Given the description of an element on the screen output the (x, y) to click on. 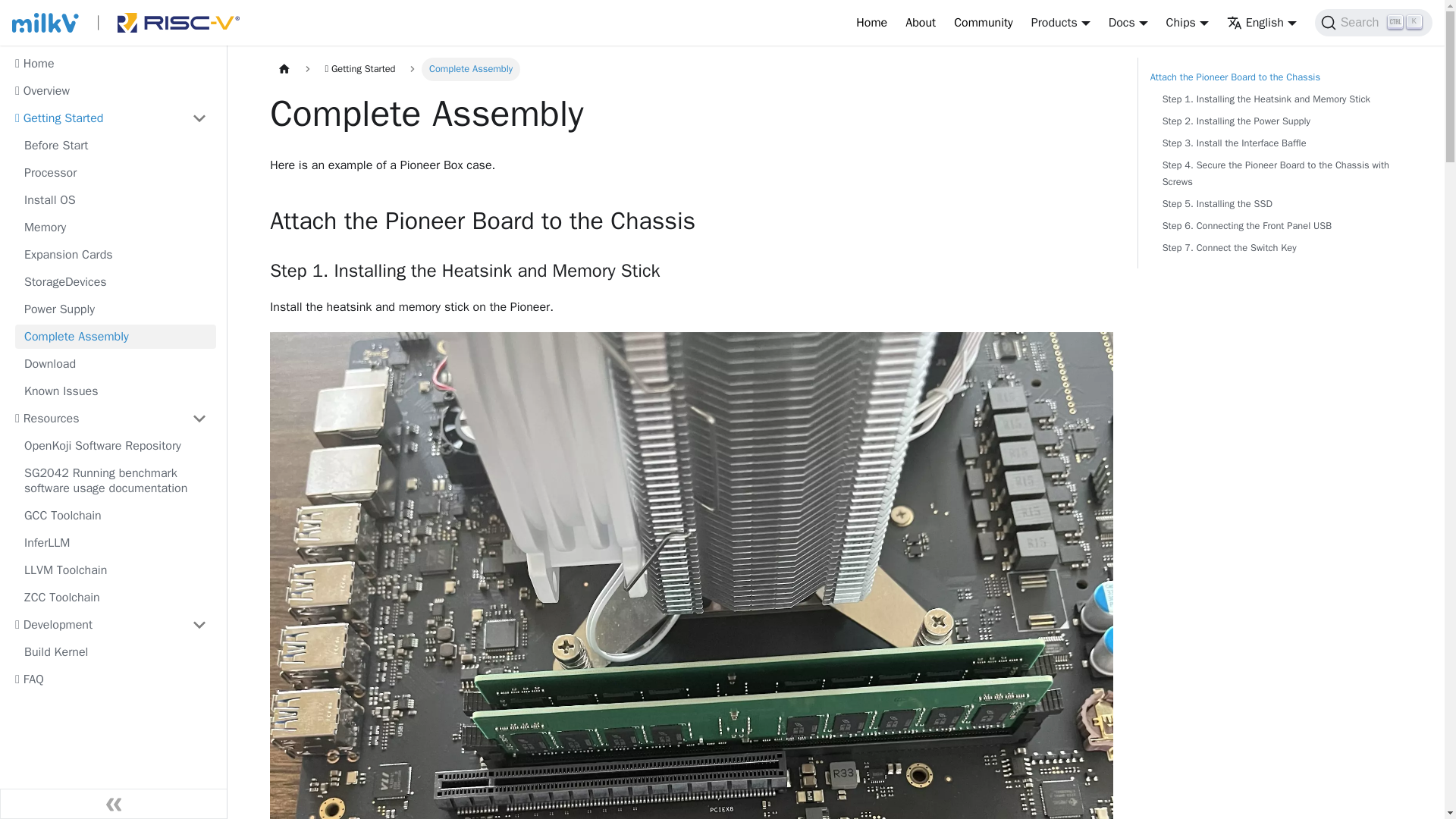
Collapse sidebar (113, 803)
Docs (1128, 22)
Products (1060, 22)
English (1262, 22)
Community (983, 22)
About (920, 22)
Home (871, 22)
Before Start (114, 145)
Chips (1373, 22)
